Given the description of an element on the screen output the (x, y) to click on. 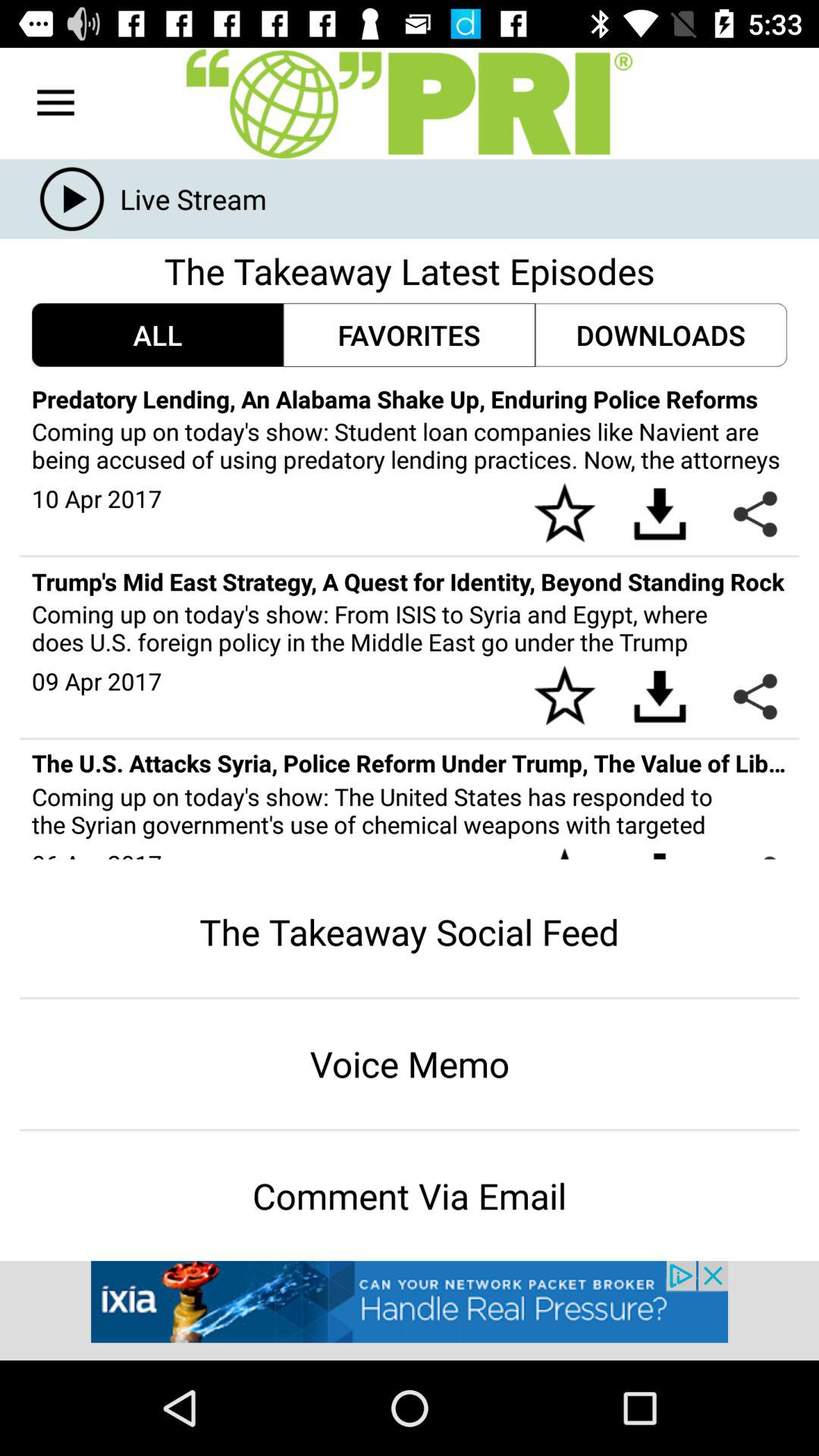
open advertisement (409, 1310)
